Given the description of an element on the screen output the (x, y) to click on. 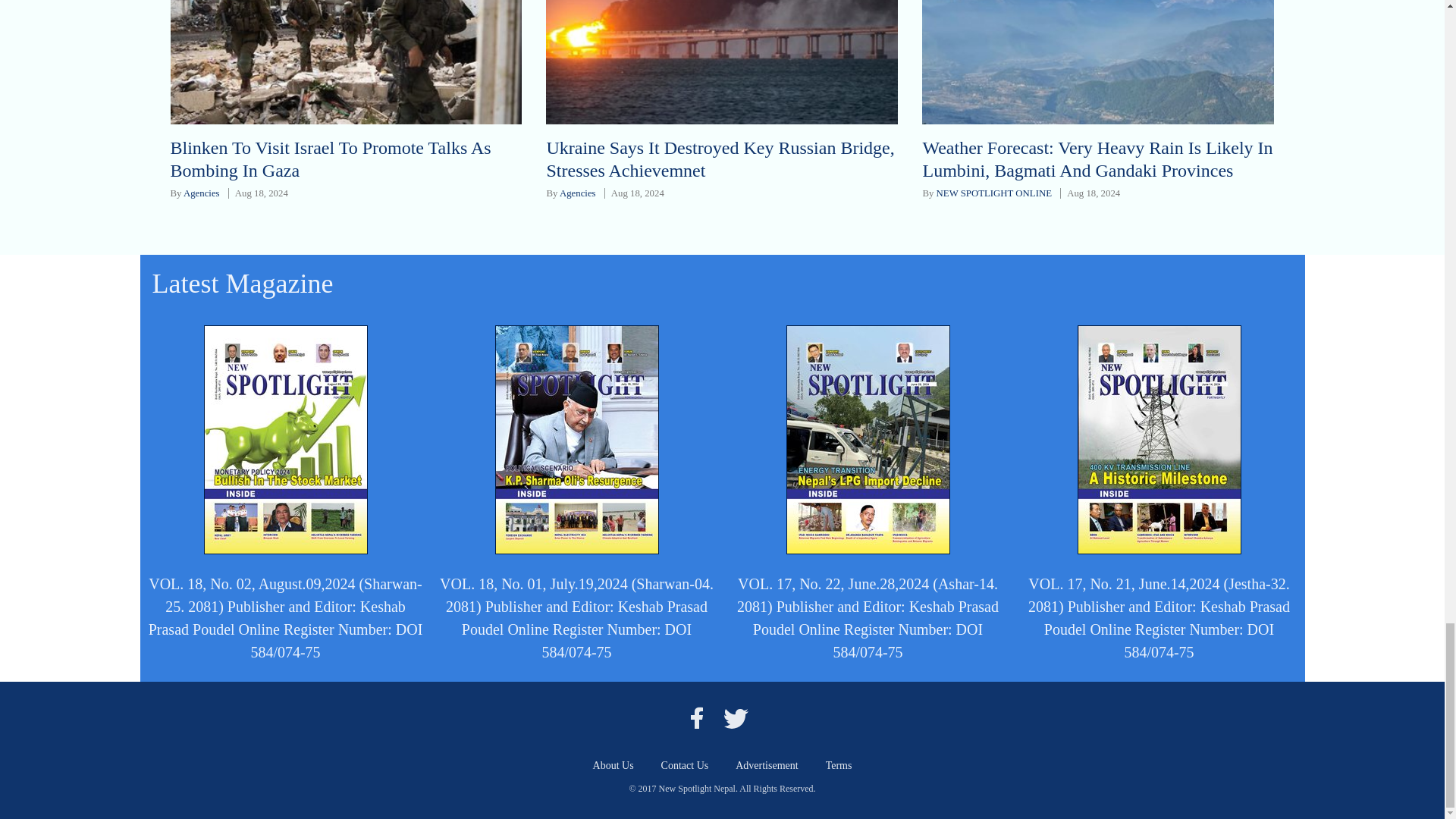
Spotlight Nepal Twitter (735, 717)
Spotlight Nepal Facebook (695, 717)
facebook icon (695, 717)
twitter icon (735, 717)
